Given the description of an element on the screen output the (x, y) to click on. 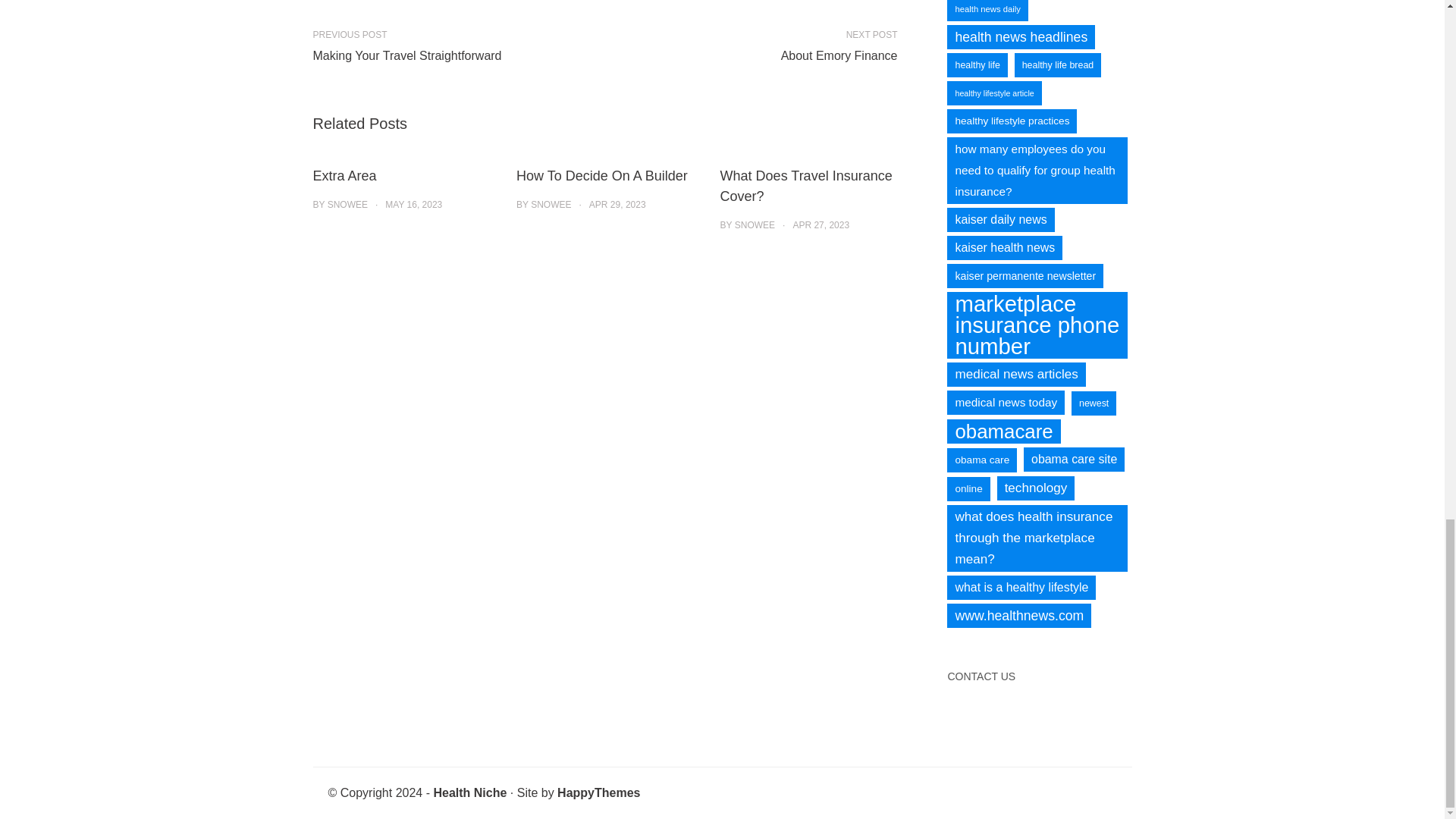
APR 29, 2023 (617, 204)
Extra Area (344, 175)
How To Decide On A Builder (601, 175)
APR 27, 2023 (820, 225)
About Emory Finance (756, 55)
What Does Travel Insurance Cover? (806, 185)
SNOWEE (550, 204)
SNOWEE (347, 204)
Making Your Travel Straightforward (452, 55)
SNOWEE (754, 225)
